Given the description of an element on the screen output the (x, y) to click on. 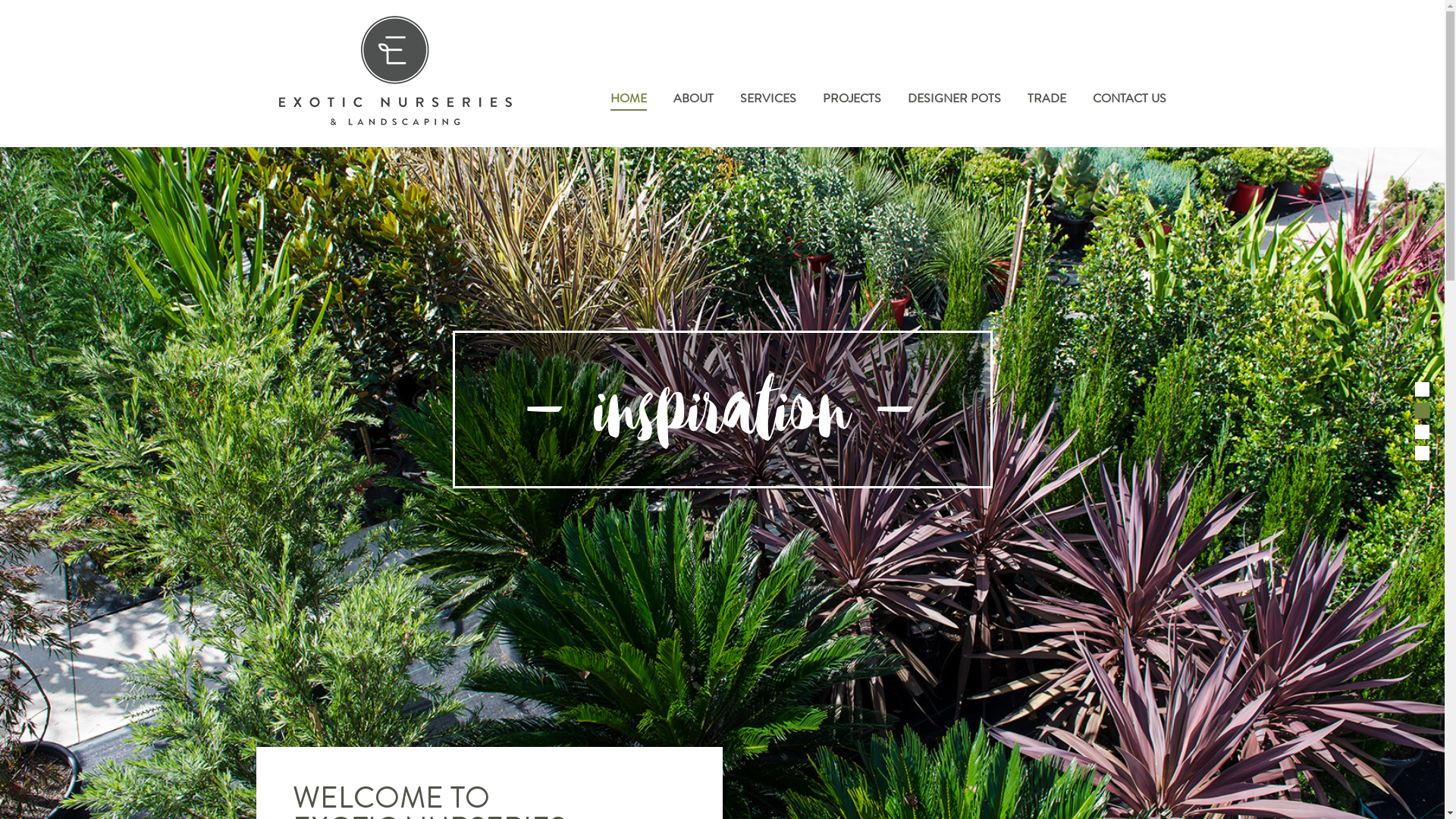
DESIGNER POTS Element type: text (953, 99)
CONTACT US Element type: text (1128, 99)
TRADE Element type: text (1045, 99)
ABOUT Element type: text (693, 99)
SERVICES Element type: text (768, 99)
PROJECTS Element type: text (851, 99)
HOME Element type: text (627, 99)
